Given the description of an element on the screen output the (x, y) to click on. 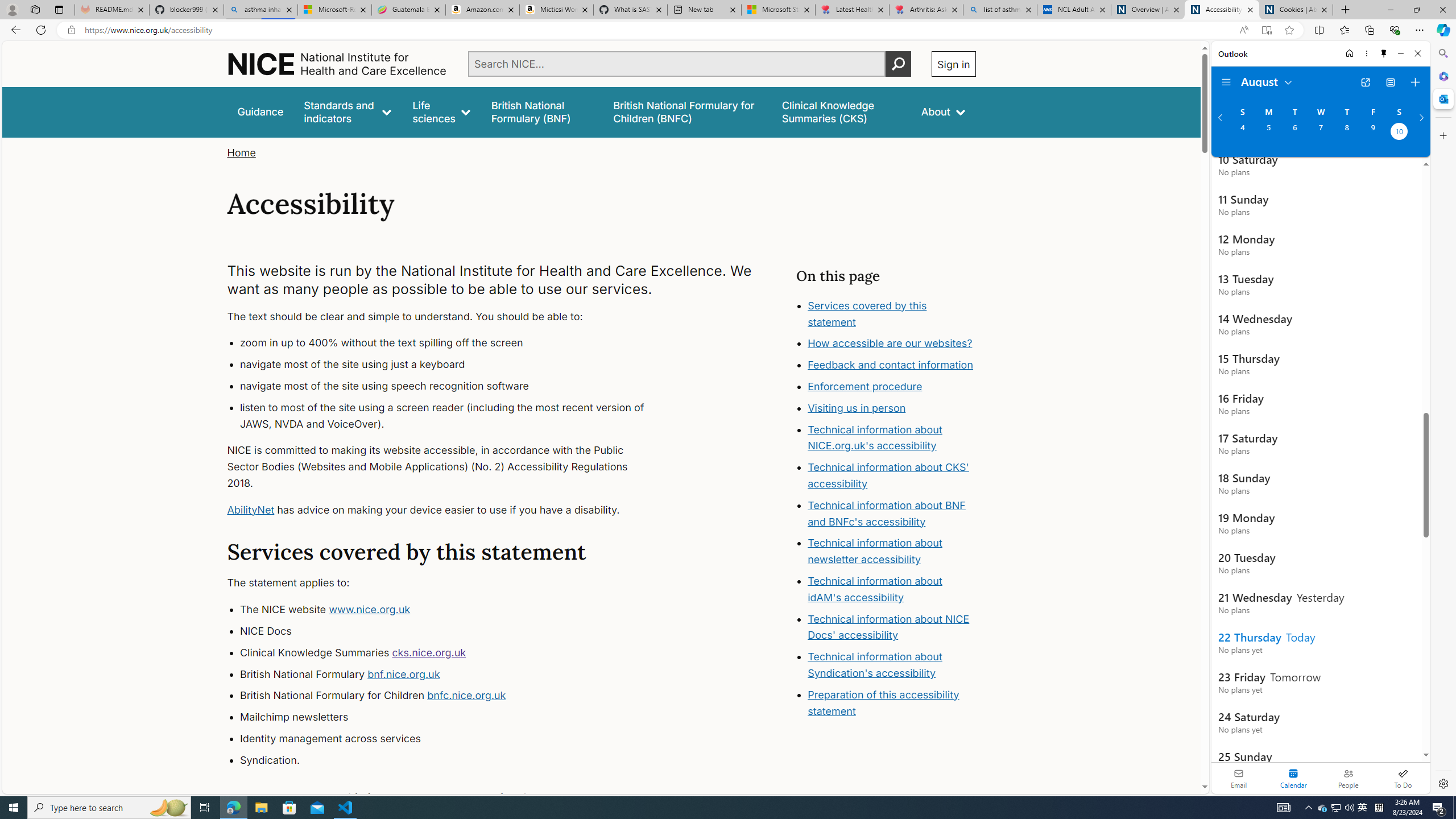
NICE Docs (452, 630)
Technical information about CKS' accessibility (888, 475)
